Given the description of an element on the screen output the (x, y) to click on. 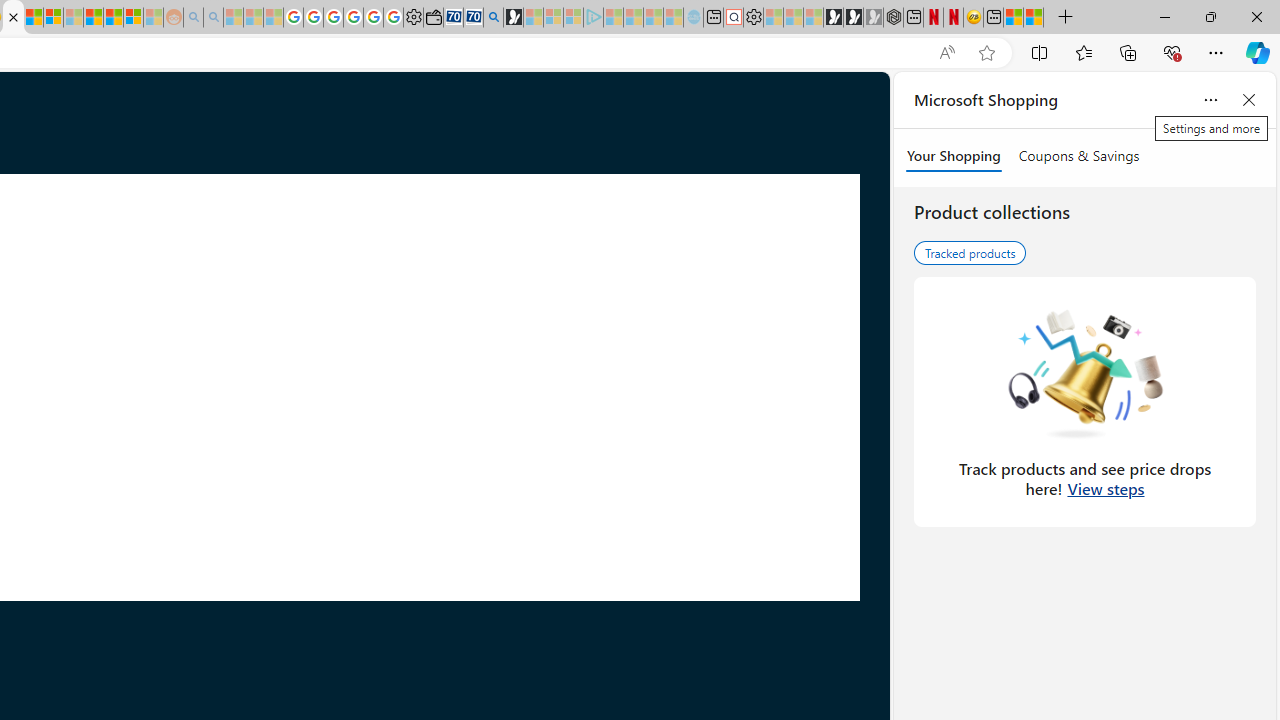
MSNBC - MSN (33, 17)
